Given the description of an element on the screen output the (x, y) to click on. 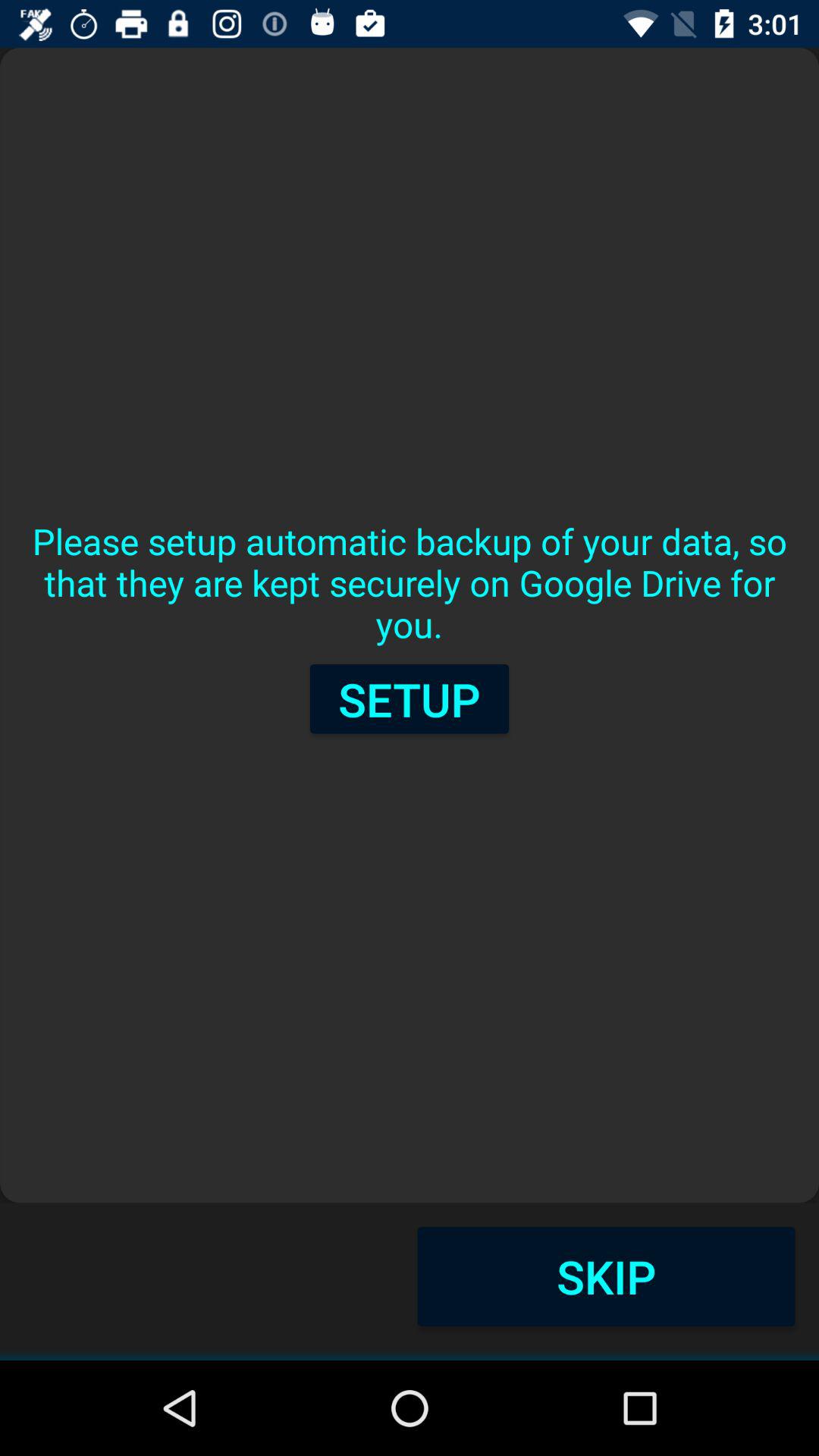
turn on item below setup (606, 1276)
